Given the description of an element on the screen output the (x, y) to click on. 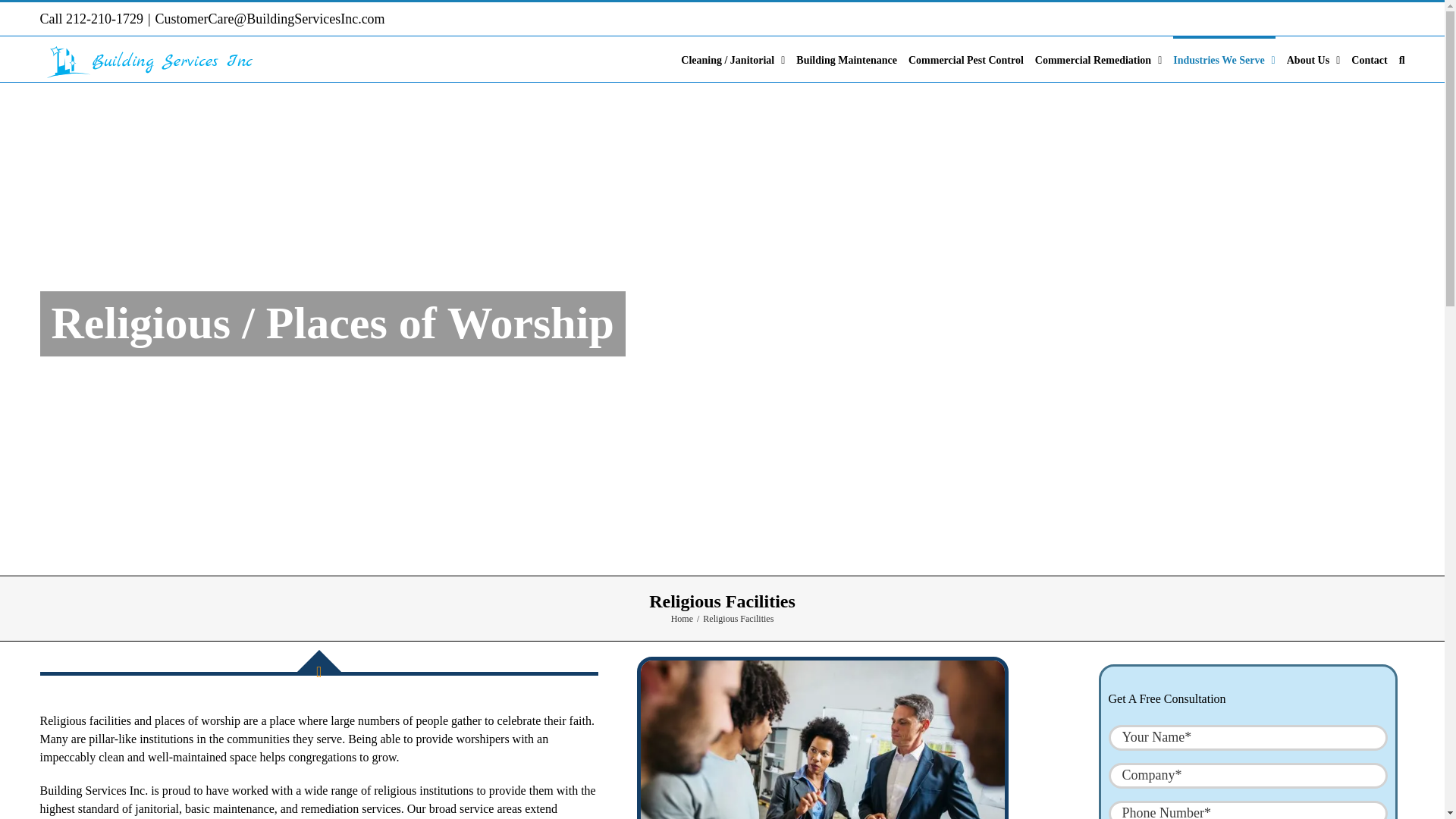
Commercial Remediation (1098, 58)
team-plan (823, 739)
Industries We Serve (1224, 58)
Building Maintenance (846, 58)
About Us (1313, 58)
212-210-1729 (103, 18)
Commercial Pest Control (965, 58)
